Given the description of an element on the screen output the (x, y) to click on. 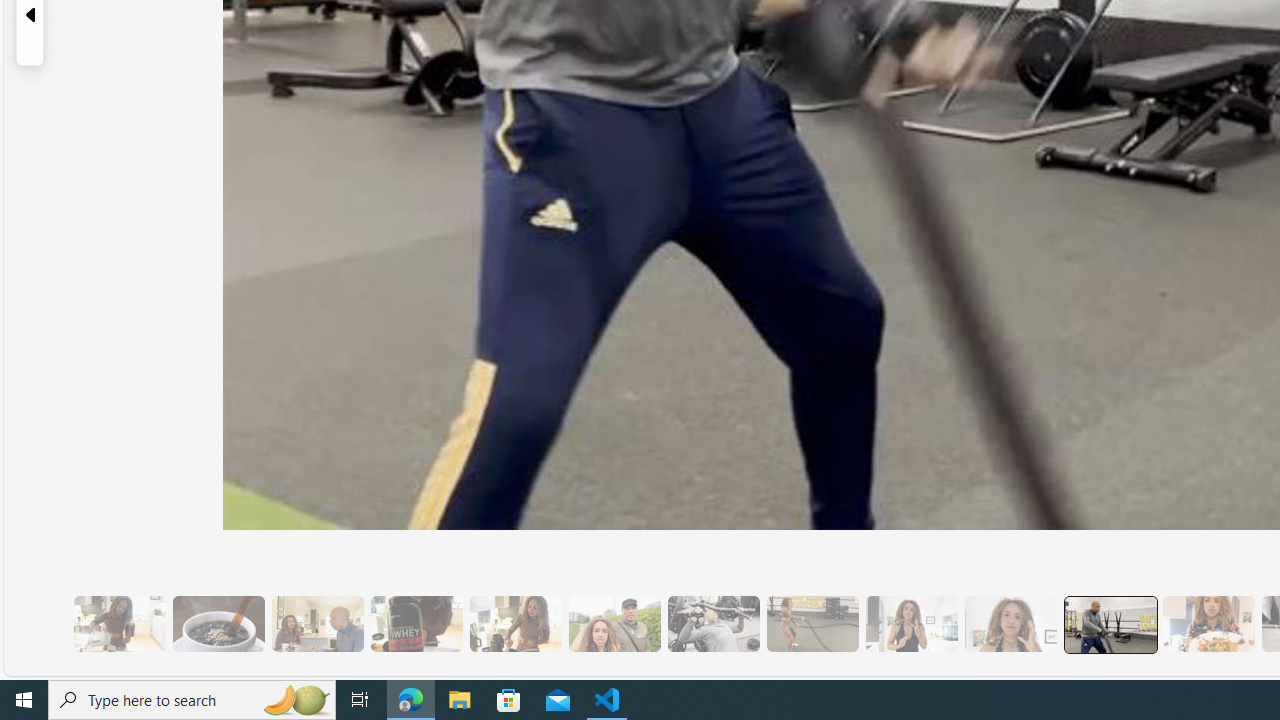
3 They Drink Lemon Tea (119, 624)
9 They Do Bench Exercises (713, 624)
6 Since Eating More Protein Her Training Has Improved (416, 624)
5 She Eats Less Than Her Husband (317, 624)
14 They Have Salmon and Veggies for Dinner (1208, 624)
8 Be Mindful of Coffee (217, 624)
13 Her Husband Does Group Cardio Classs (1108, 624)
10 Then, They Do HIIT Cardio (811, 624)
10 Then, They Do HIIT Cardio (811, 624)
14 They Have Salmon and Veggies for Dinner (1208, 624)
8 Be Mindful of Coffee (217, 624)
